Given the description of an element on the screen output the (x, y) to click on. 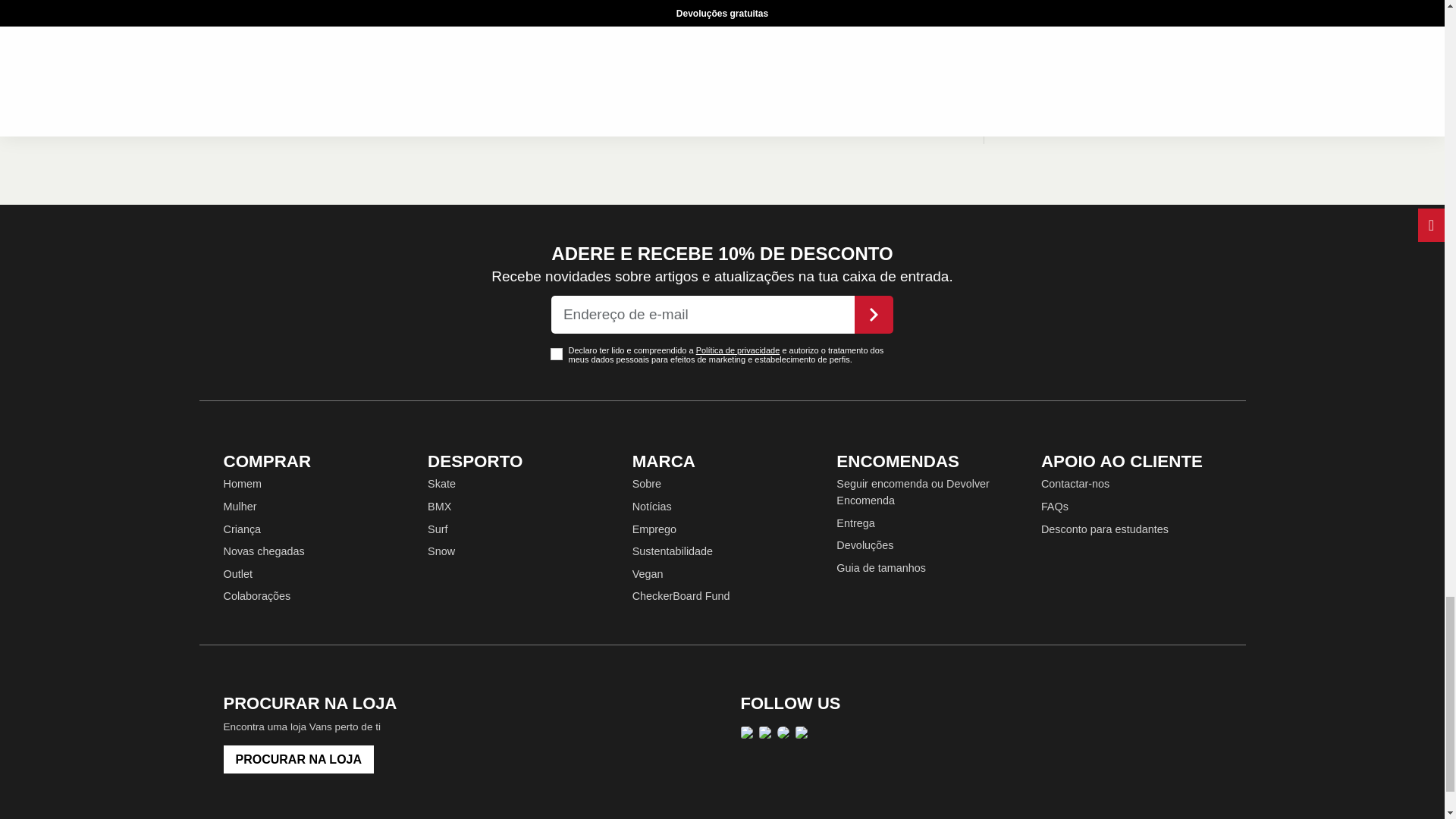
on (556, 354)
